Given the description of an element on the screen output the (x, y) to click on. 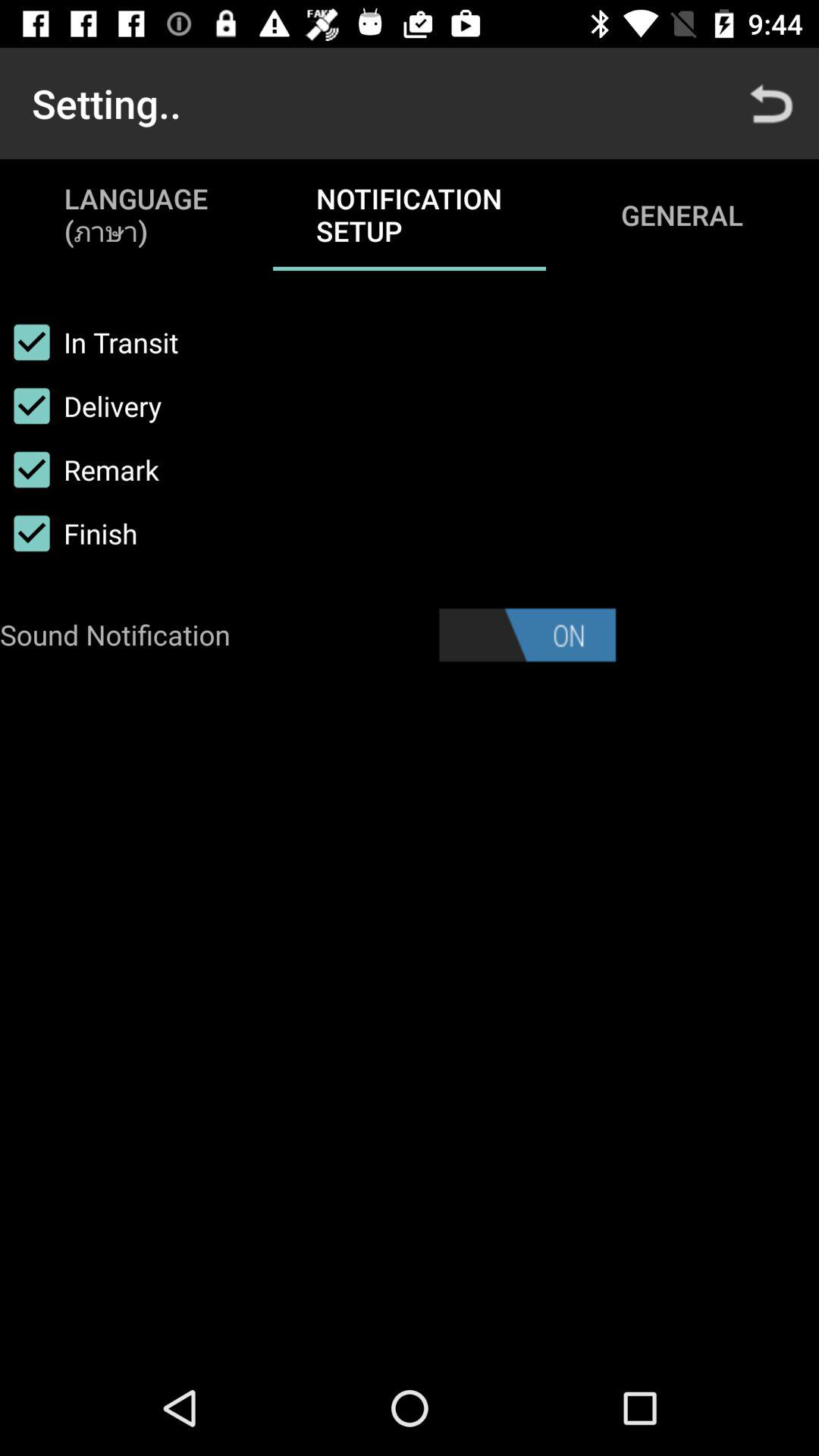
open icon below the delivery icon (79, 469)
